Given the description of an element on the screen output the (x, y) to click on. 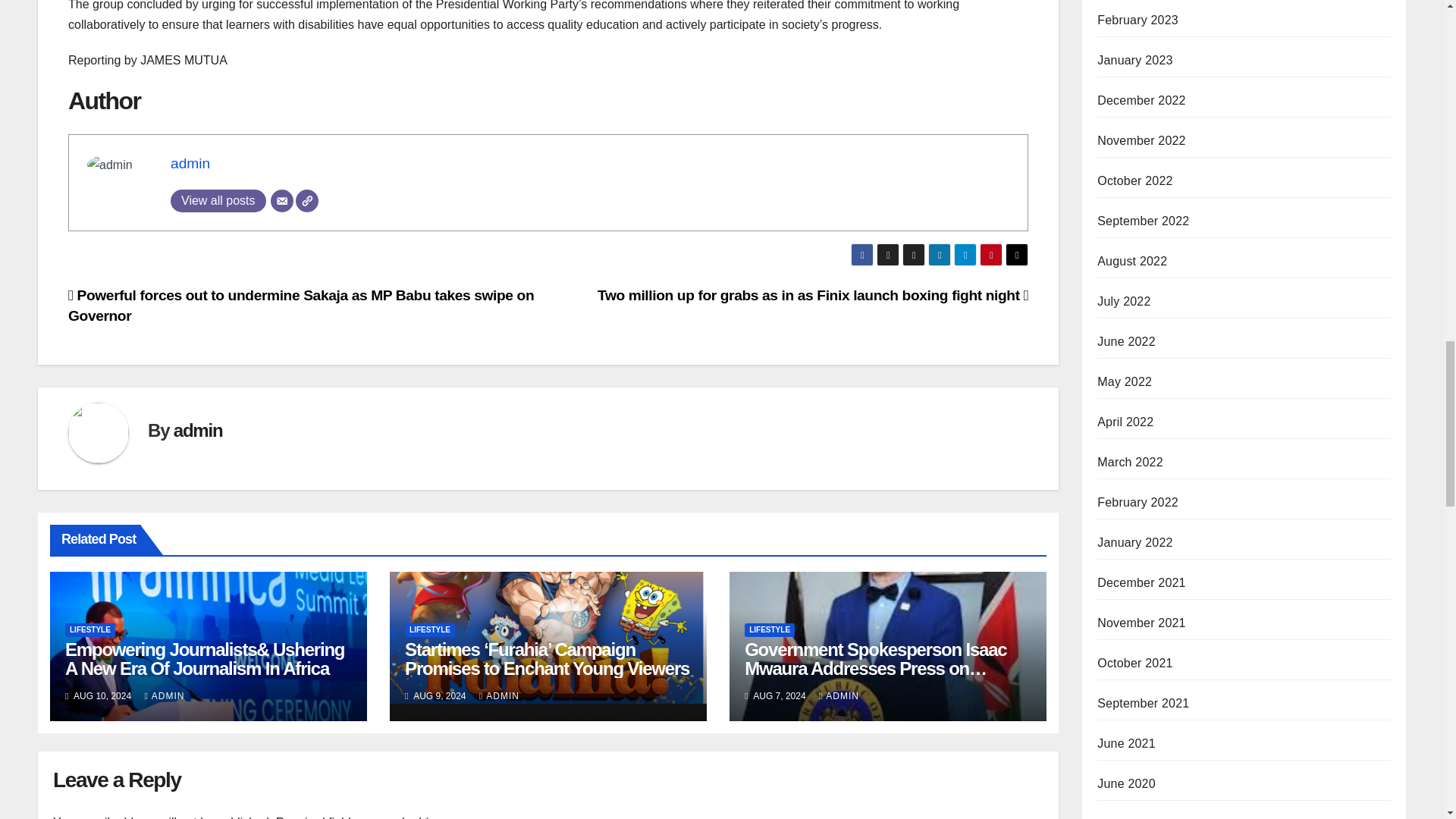
LIFESTYLE (90, 630)
admin (189, 163)
View all posts (218, 200)
View all posts (218, 200)
admin (189, 163)
admin (197, 430)
